Given the description of an element on the screen output the (x, y) to click on. 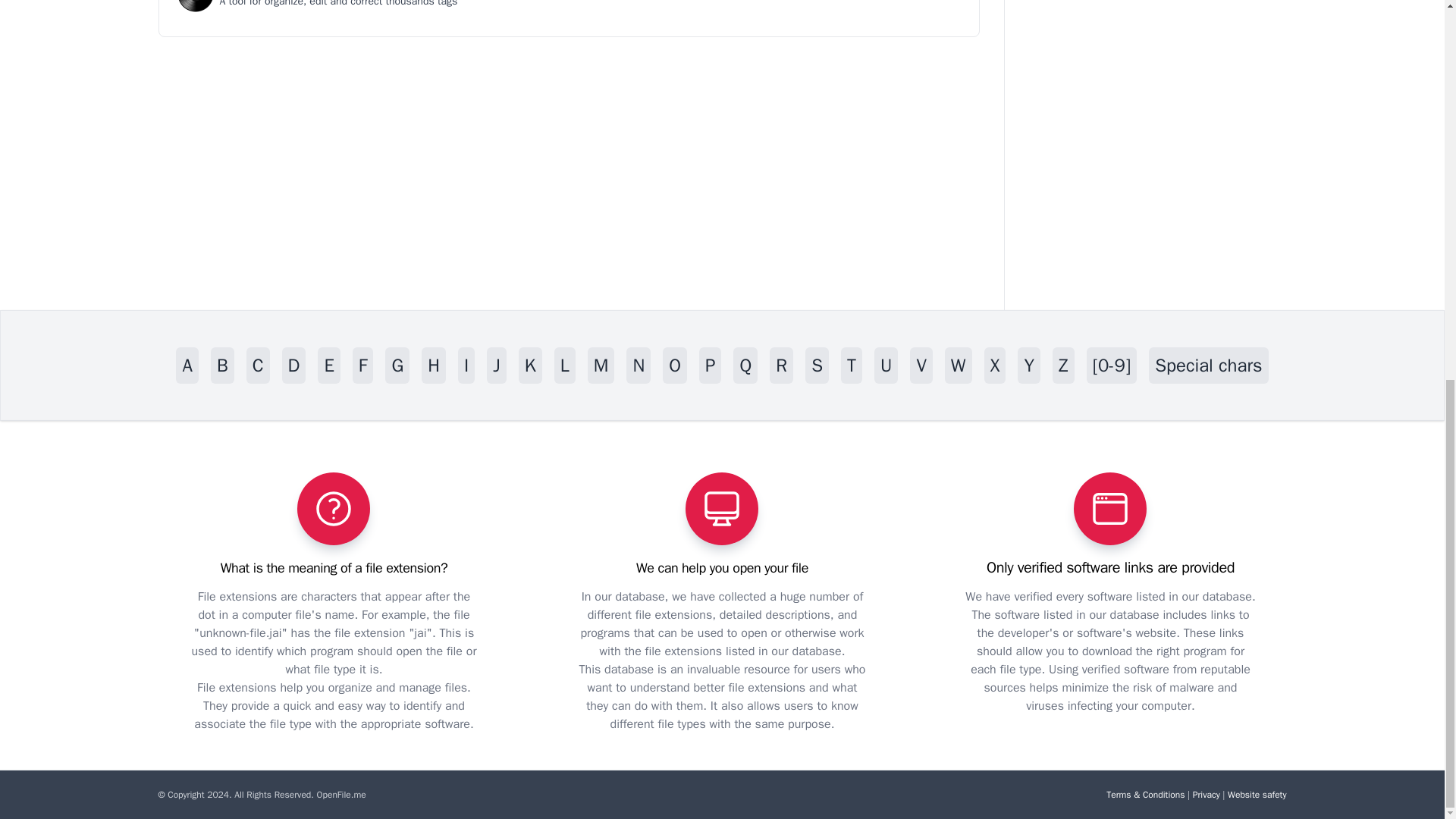
Privacy (1206, 794)
Special chars (1208, 365)
Website safety (1256, 794)
